Given the description of an element on the screen output the (x, y) to click on. 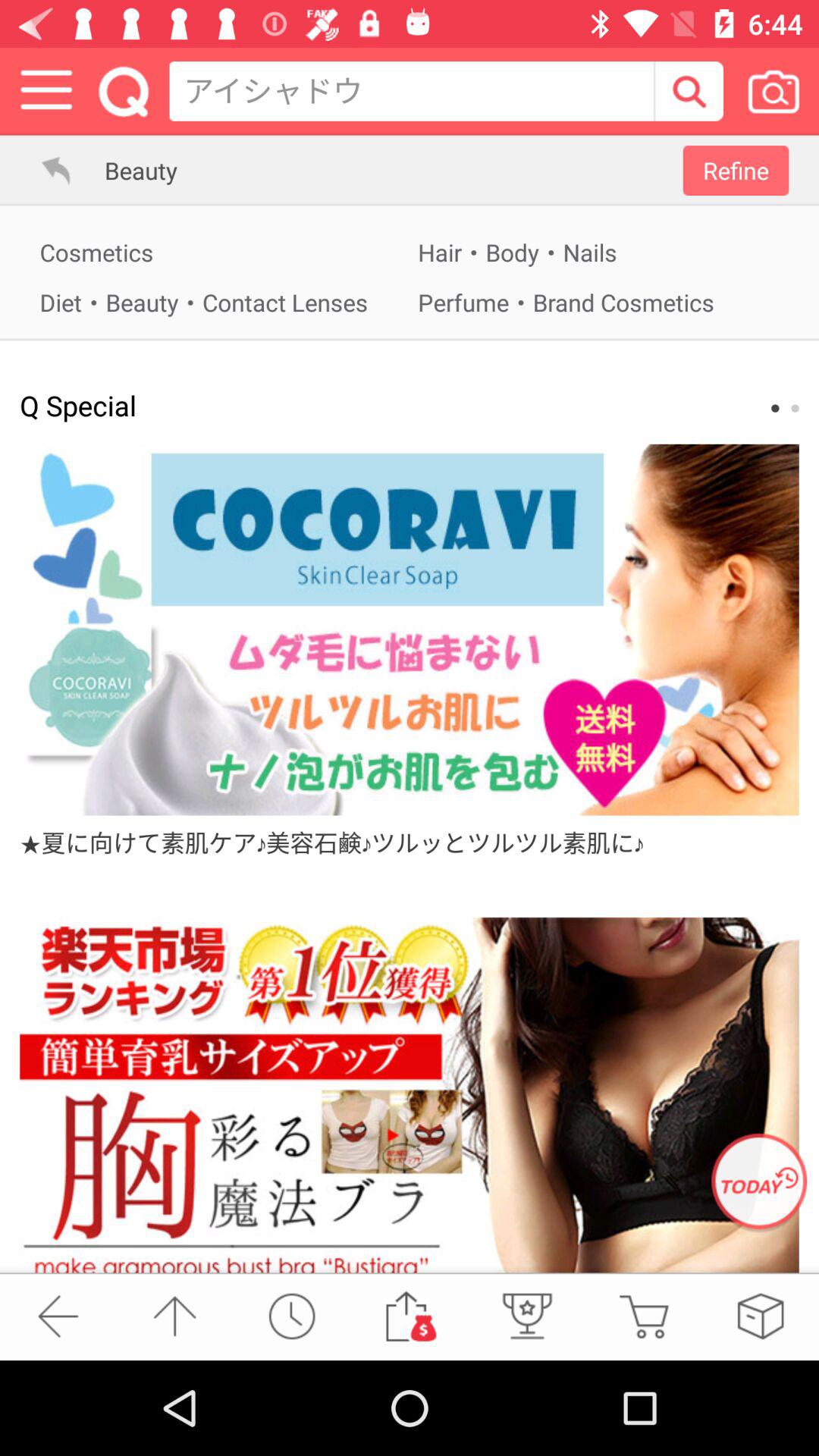
buscar (688, 91)
